Given the description of an element on the screen output the (x, y) to click on. 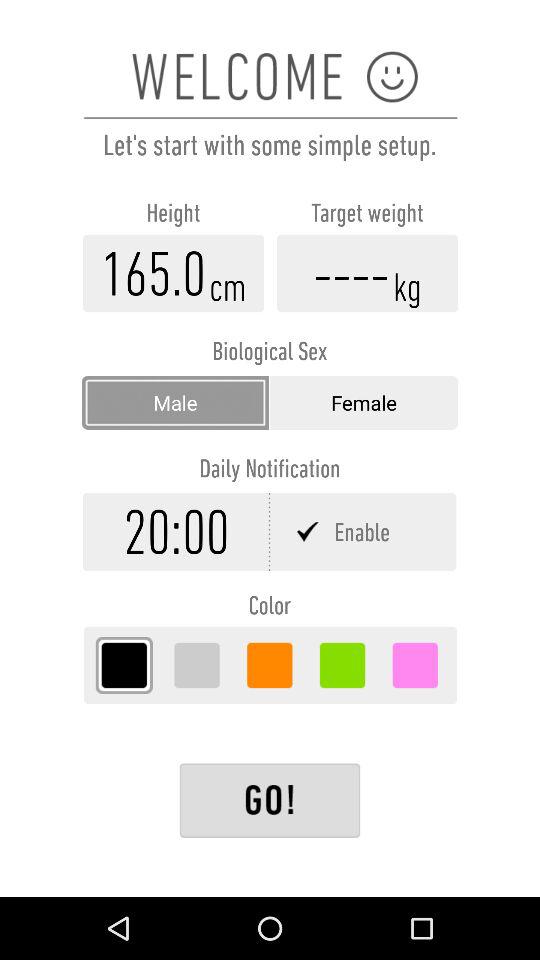
sets color to pink (415, 665)
